Given the description of an element on the screen output the (x, y) to click on. 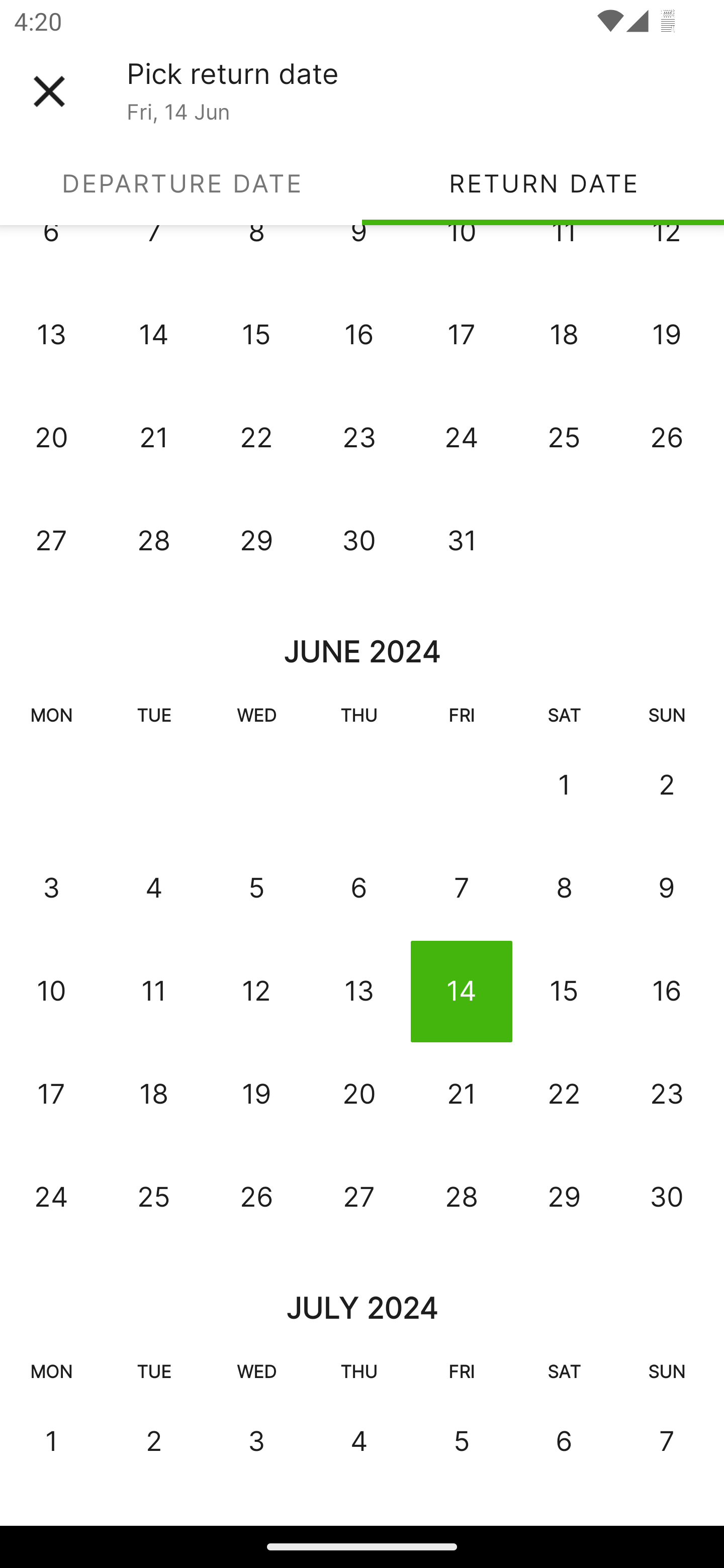
Departure Date DEPARTURE DATE (181, 183)
